Given the description of an element on the screen output the (x, y) to click on. 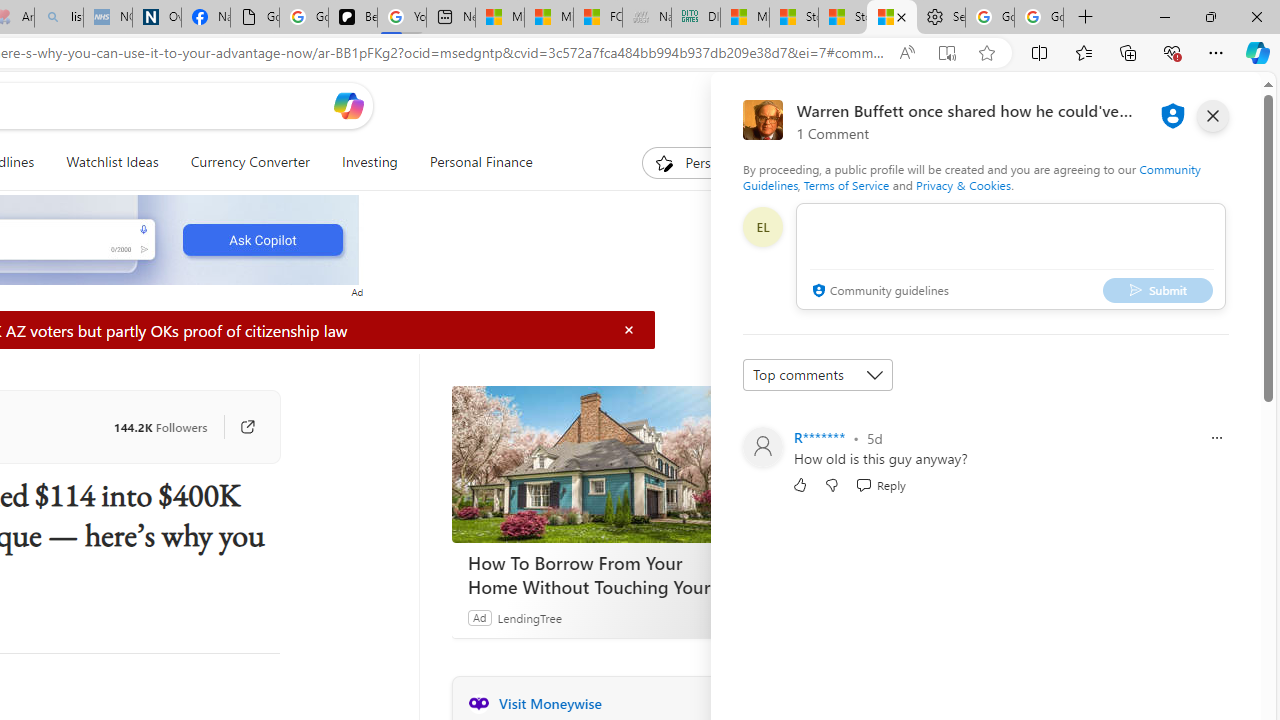
To get missing image descriptions, open the context menu. (664, 162)
Reply Reply Comment (880, 484)
Investing (369, 162)
Personal Finance (472, 162)
Submit (1158, 290)
Privacy & Cookies (964, 184)
Dislike (831, 484)
list of asthma inhalers uk - Search - Sleeping (58, 17)
comment-box (1011, 256)
Ad (479, 617)
R******* (819, 437)
Visit Moneywise website (726, 703)
